Given the description of an element on the screen output the (x, y) to click on. 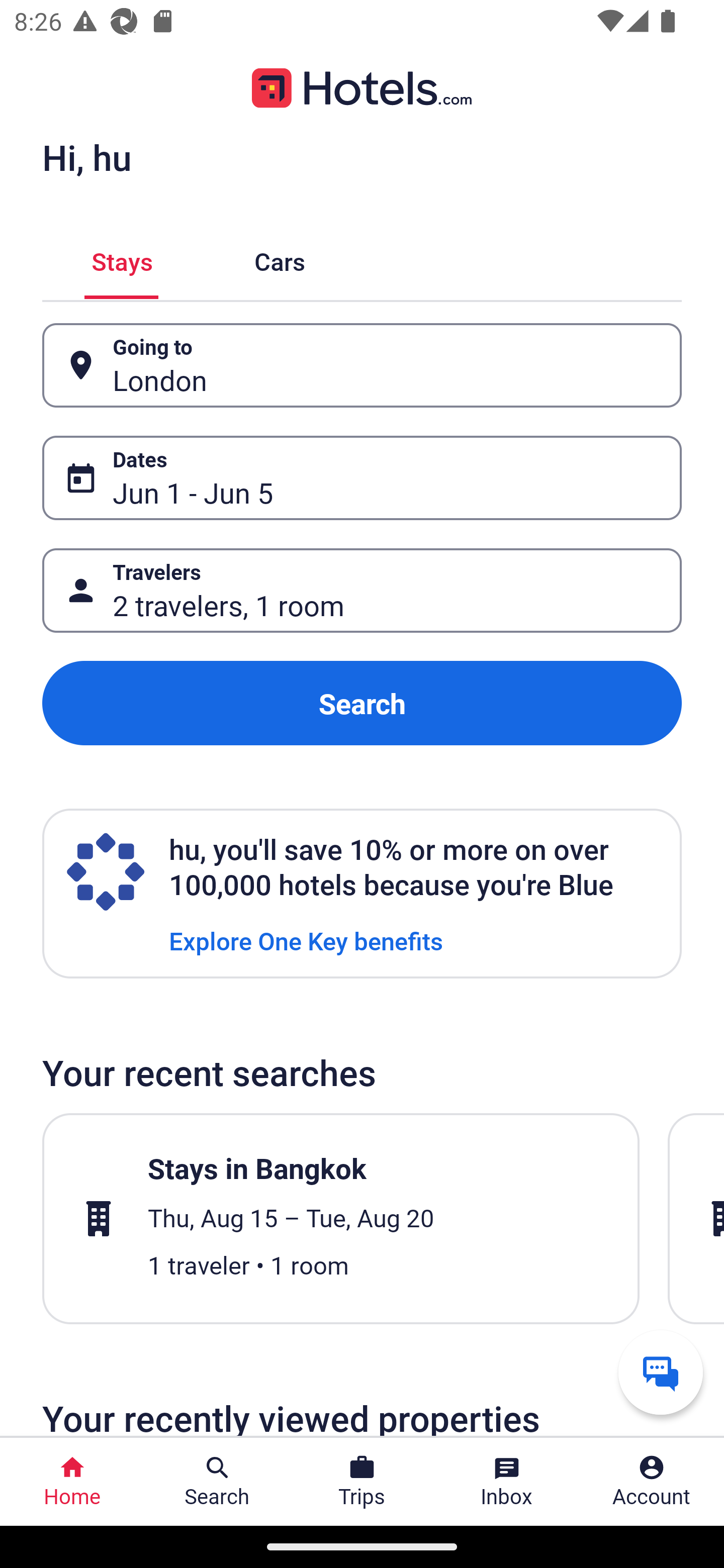
Hi, hu (86, 156)
Cars (279, 259)
Going to Button London (361, 365)
Dates Button Jun 1 - Jun 5 (361, 477)
Travelers Button 2 travelers, 1 room (361, 590)
Search (361, 702)
Get help from a virtual agent (660, 1371)
Search Search Button (216, 1481)
Trips Trips Button (361, 1481)
Inbox Inbox Button (506, 1481)
Account Profile. Button (651, 1481)
